Given the description of an element on the screen output the (x, y) to click on. 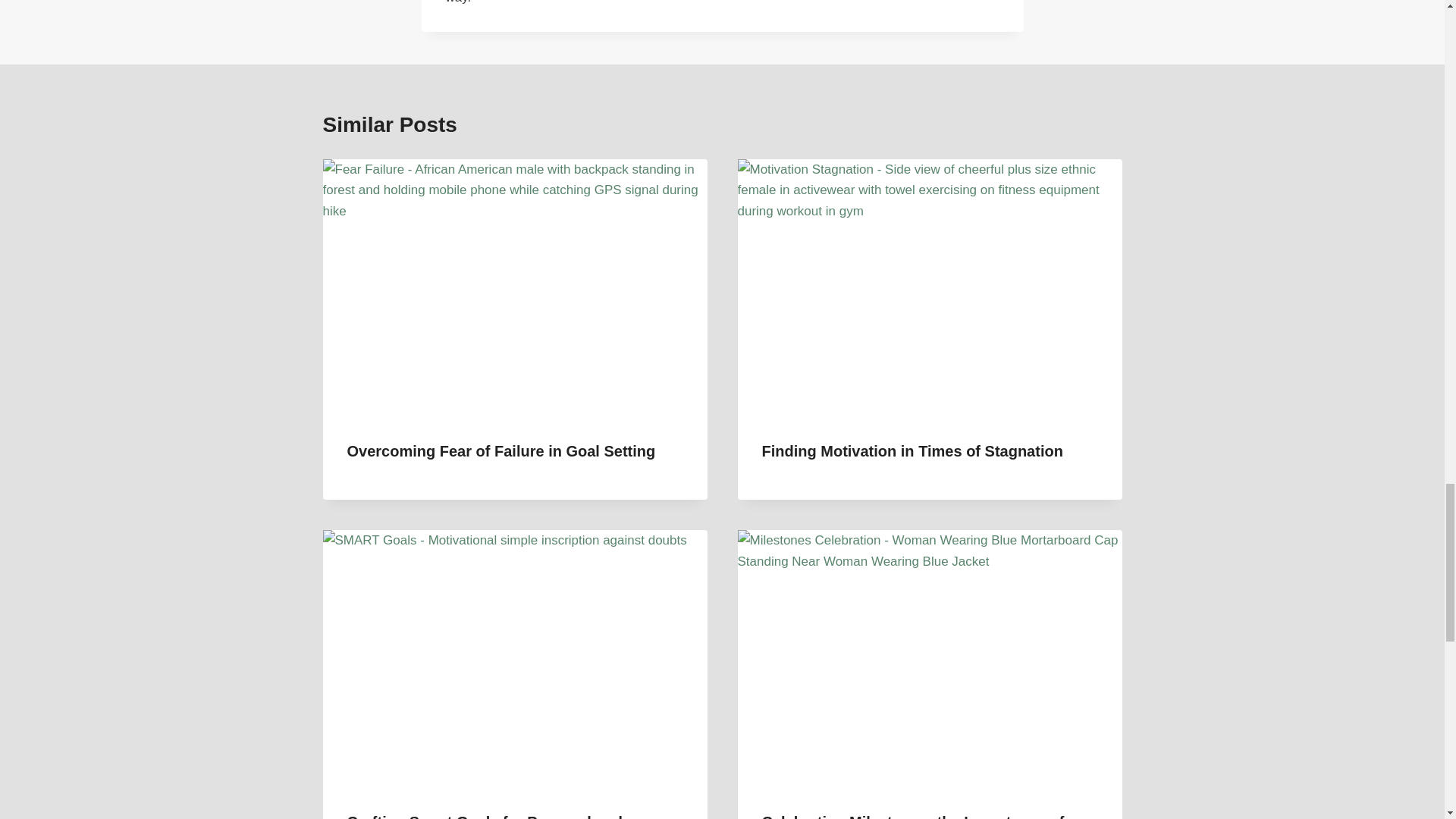
Overcoming Fear of Failure in Goal Setting (501, 451)
Crafting Smart Goals for Personal and Professional Growth (485, 816)
Finding Motivation in Times of Stagnation (911, 451)
